Given the description of an element on the screen output the (x, y) to click on. 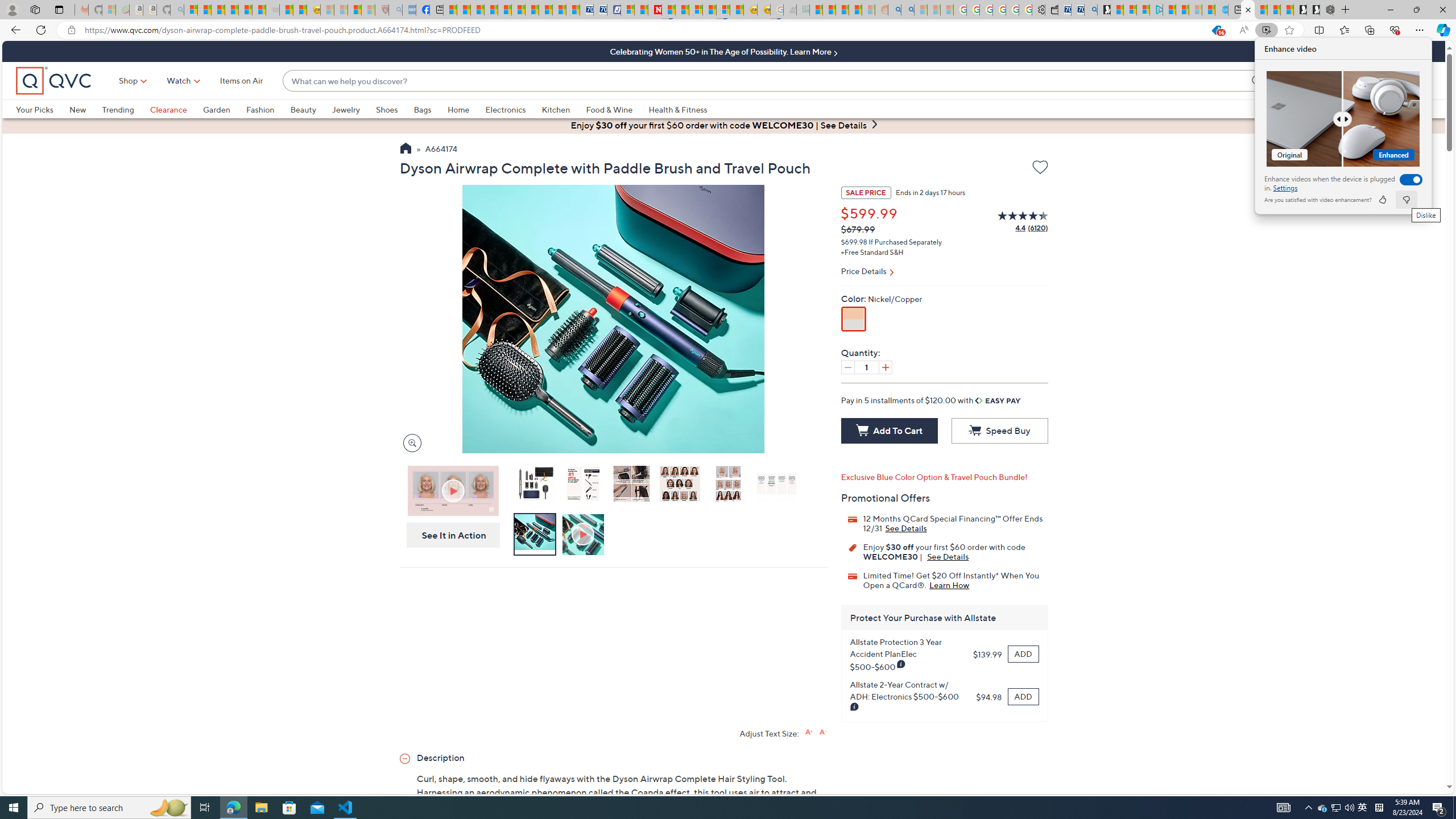
Food & Wine (617, 109)
Return to QVC Homepage (405, 149)
See Details (948, 556)
Garden (224, 109)
